Given the description of an element on the screen output the (x, y) to click on. 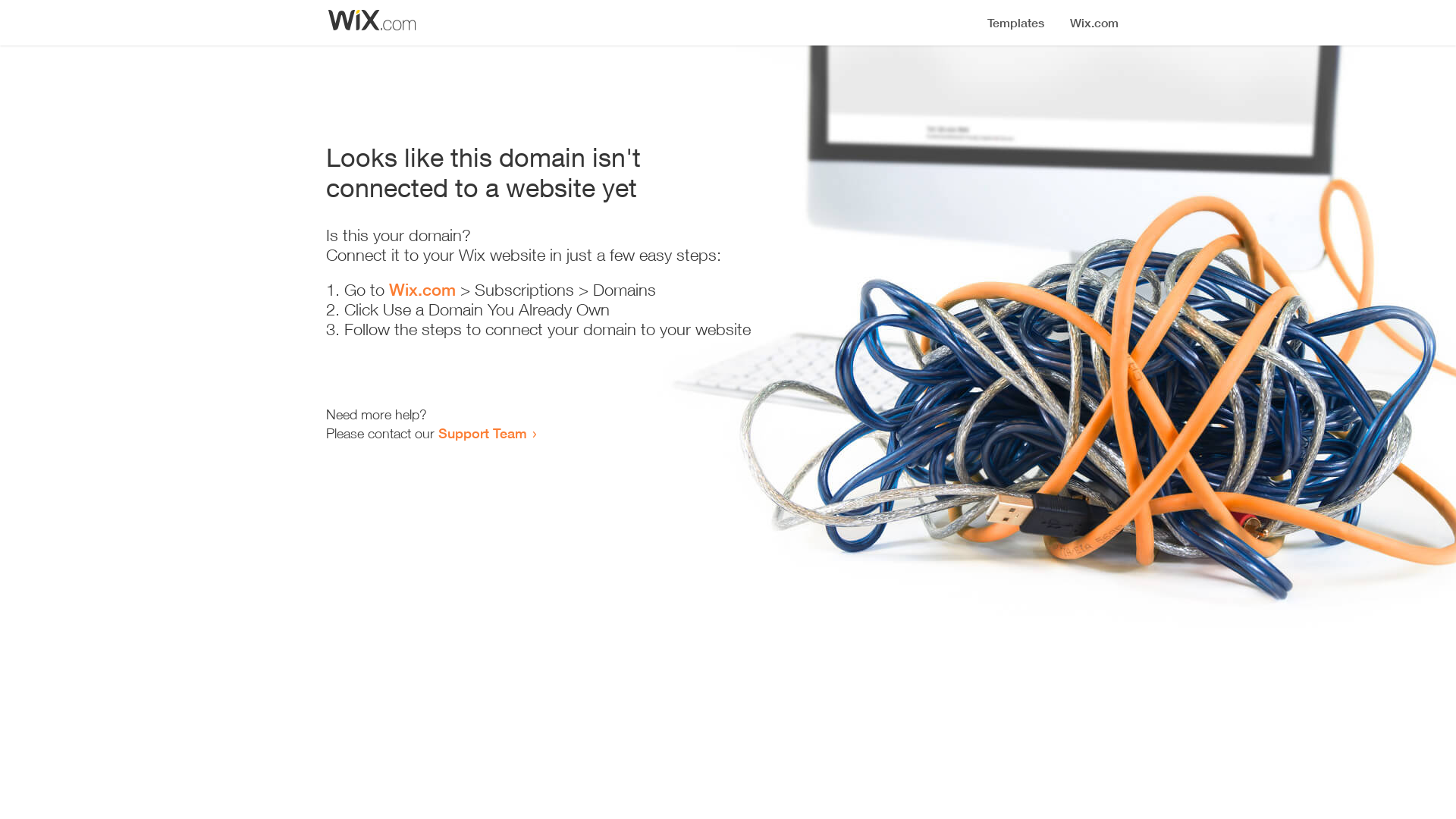
Wix.com Element type: text (422, 289)
Support Team Element type: text (482, 432)
